Given the description of an element on the screen output the (x, y) to click on. 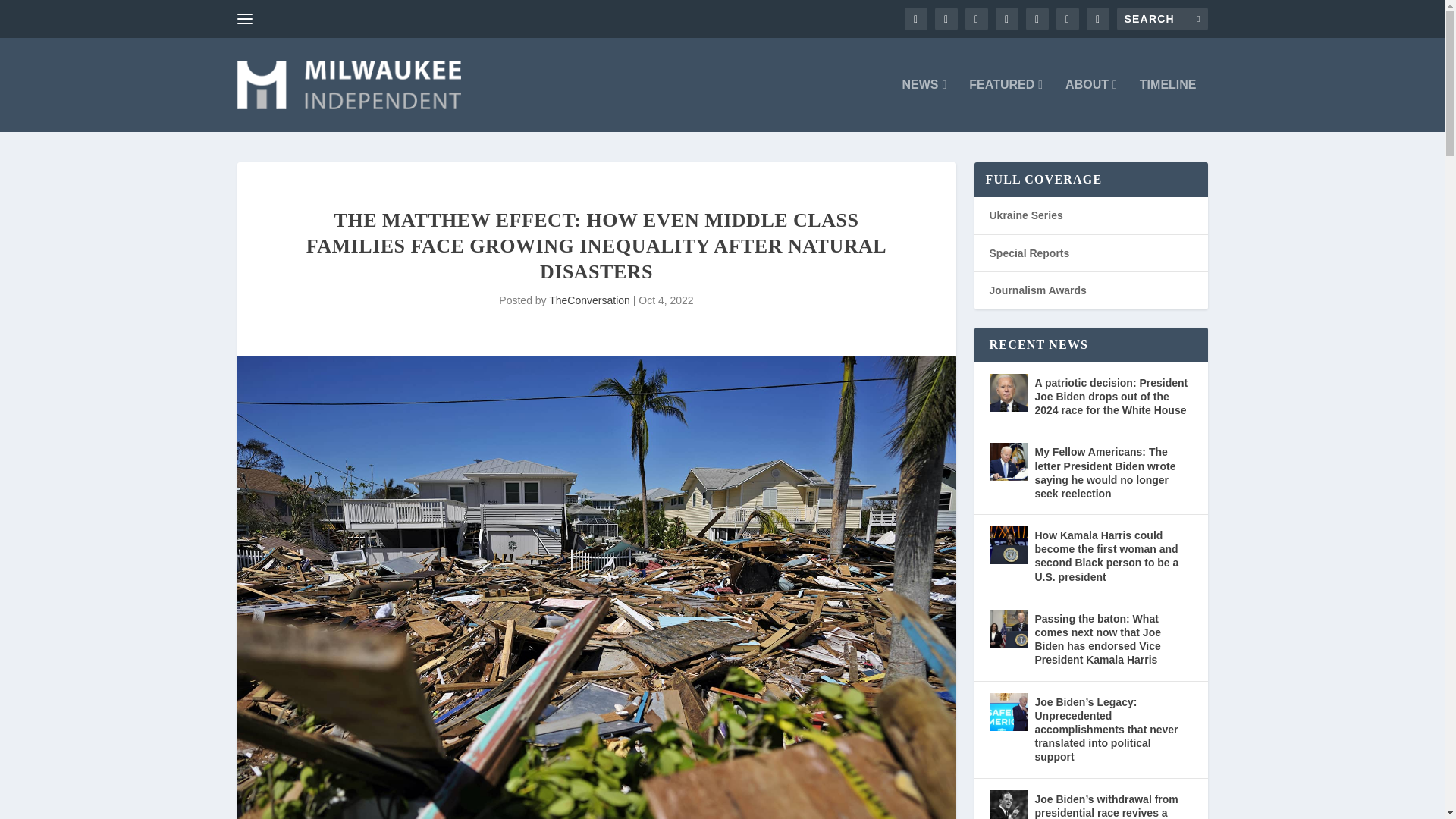
Posts by TheConversation (589, 300)
Search for: (1161, 18)
ABOUT (1090, 104)
FEATURED (1005, 104)
TIMELINE (1168, 104)
